Given the description of an element on the screen output the (x, y) to click on. 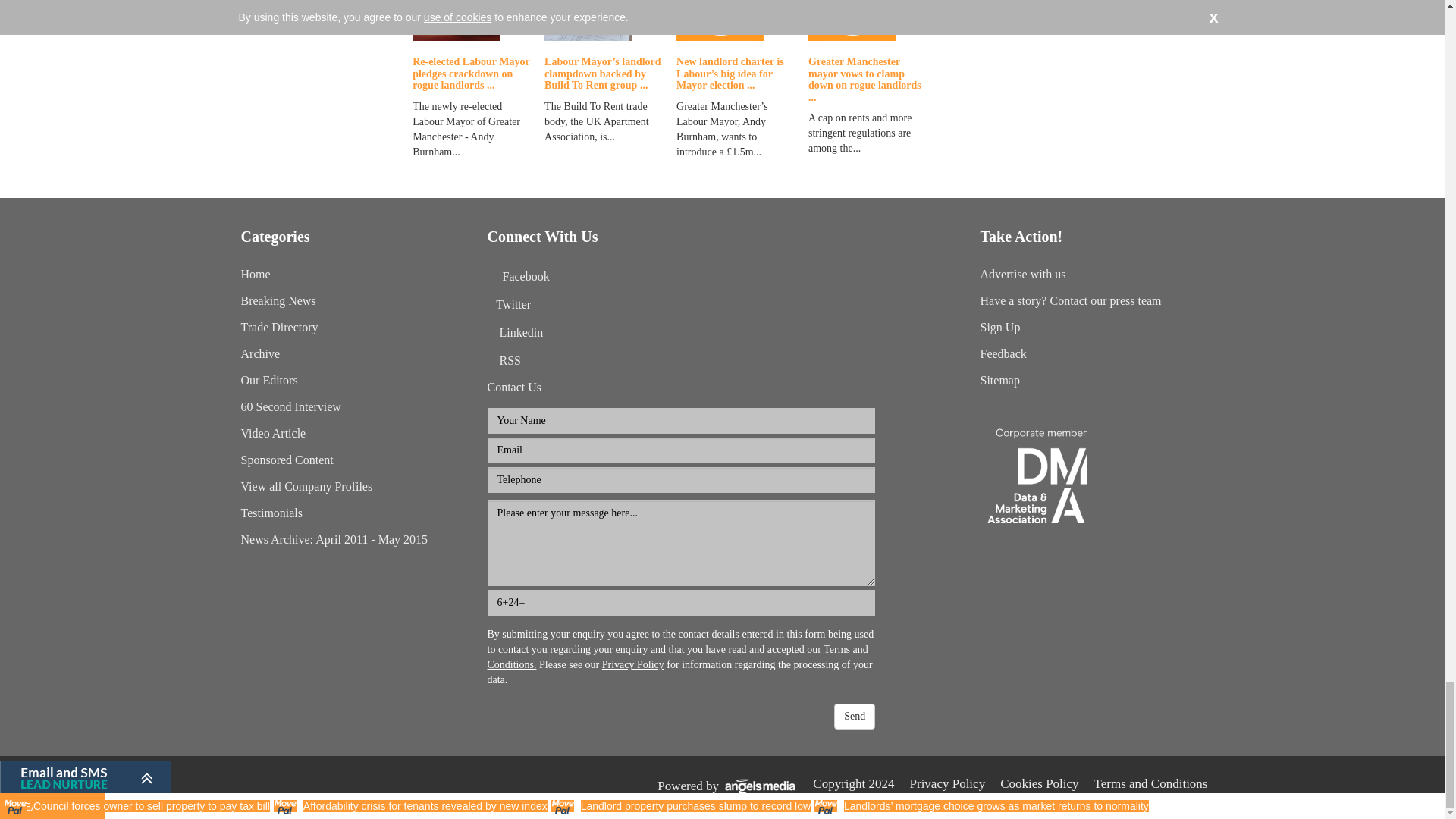
Send (854, 716)
